Given the description of an element on the screen output the (x, y) to click on. 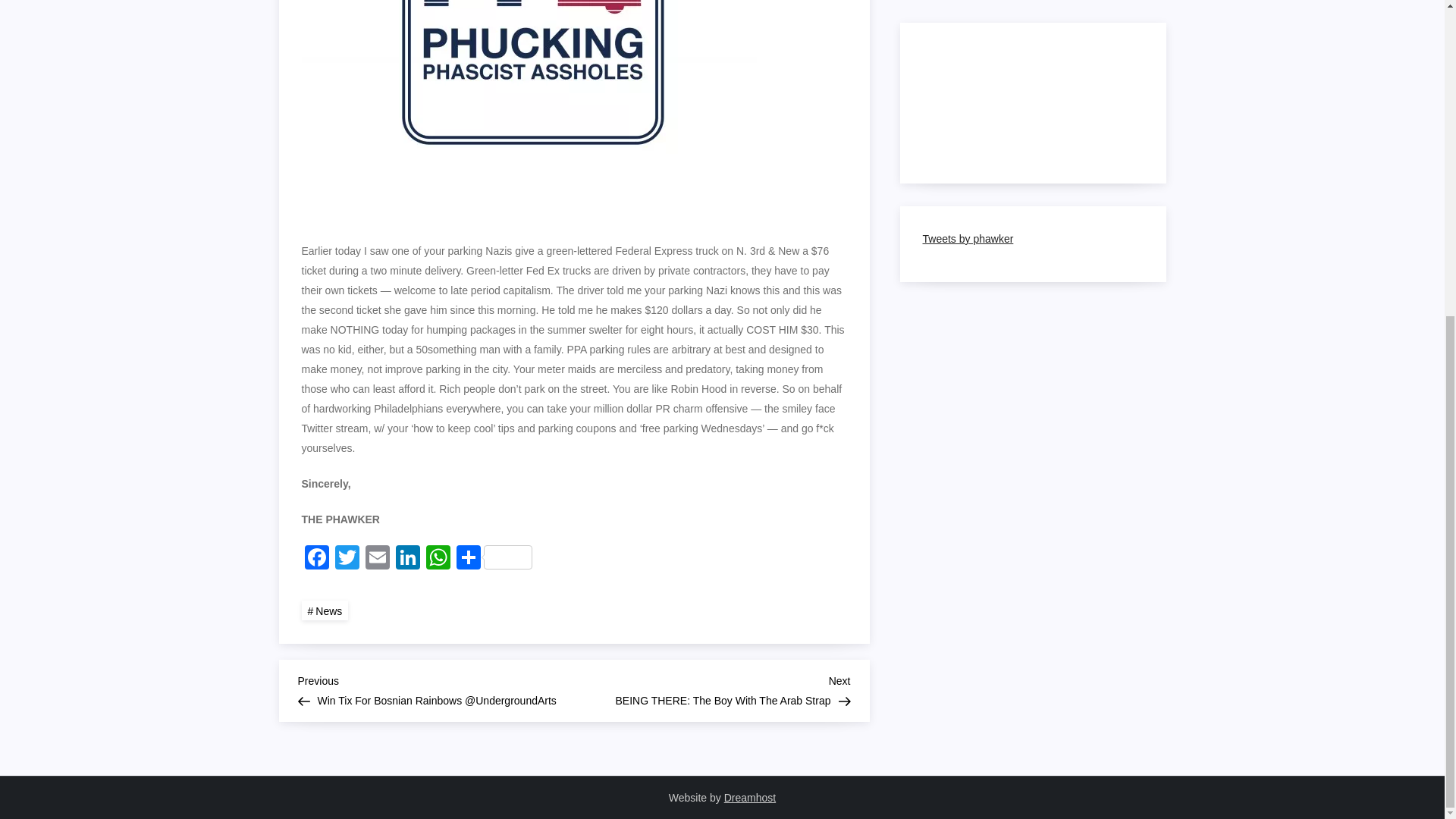
WhatsApp (437, 559)
LinkedIn (408, 559)
Twitter (346, 559)
Dreamhost (749, 797)
Facebook (316, 559)
News (325, 610)
LinkedIn (408, 559)
Email (377, 559)
Twitter (346, 559)
Email (377, 559)
Facebook (316, 559)
Share (711, 688)
WhatsApp (493, 559)
